Given the description of an element on the screen output the (x, y) to click on. 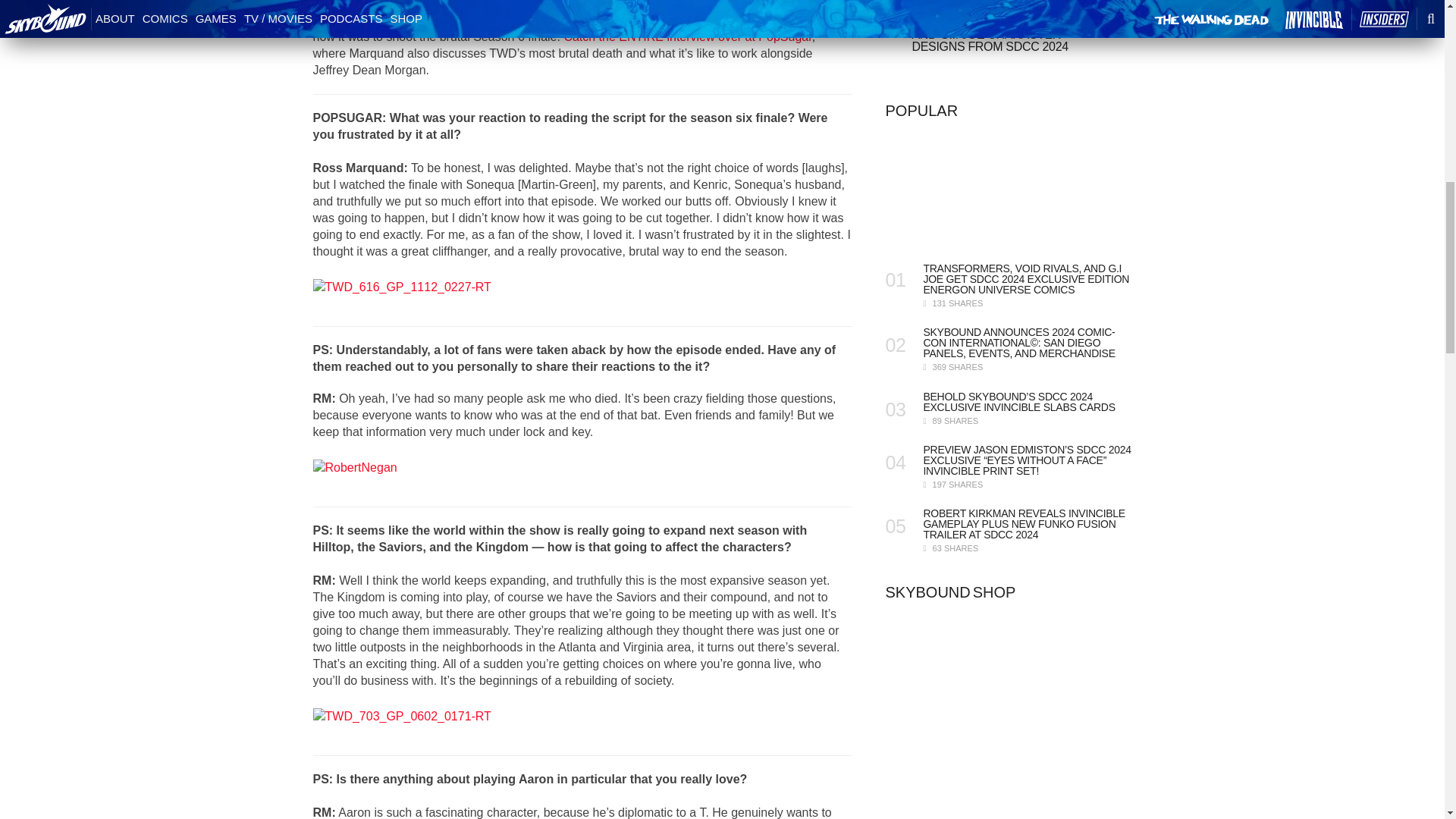
Catch the ENTIRE interview over at PopSugar (686, 36)
